Given the description of an element on the screen output the (x, y) to click on. 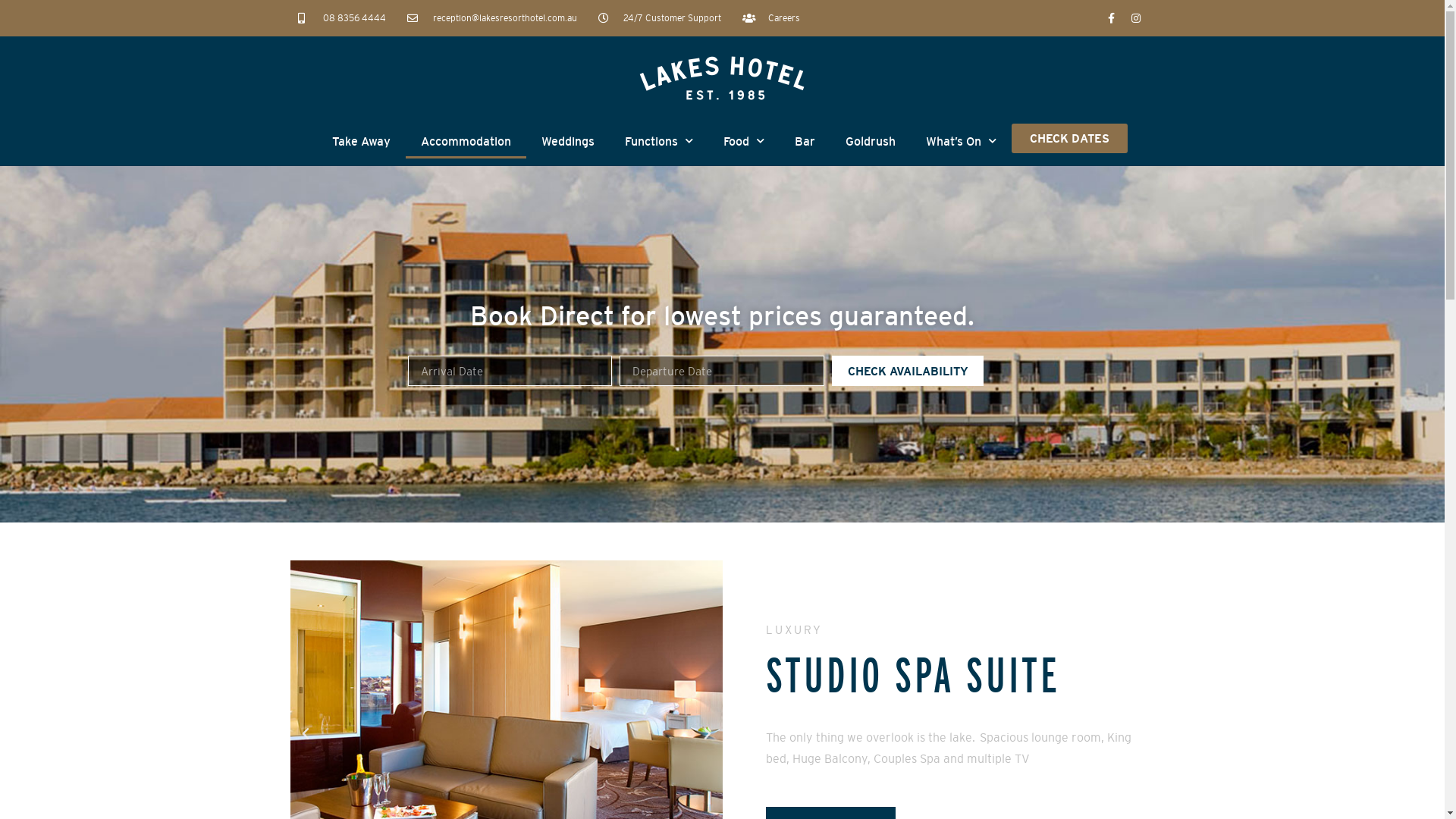
Food Element type: text (743, 140)
Weddings Element type: text (567, 140)
Goldrush Element type: text (870, 140)
CHECK DATES Element type: text (1069, 138)
Functions Element type: text (658, 140)
CHECK AVAILABILITY Element type: text (907, 370)
Bar Element type: text (804, 140)
Careers Element type: text (771, 18)
Take Away Element type: text (360, 140)
Accommodation Element type: text (465, 140)
